Given the description of an element on the screen output the (x, y) to click on. 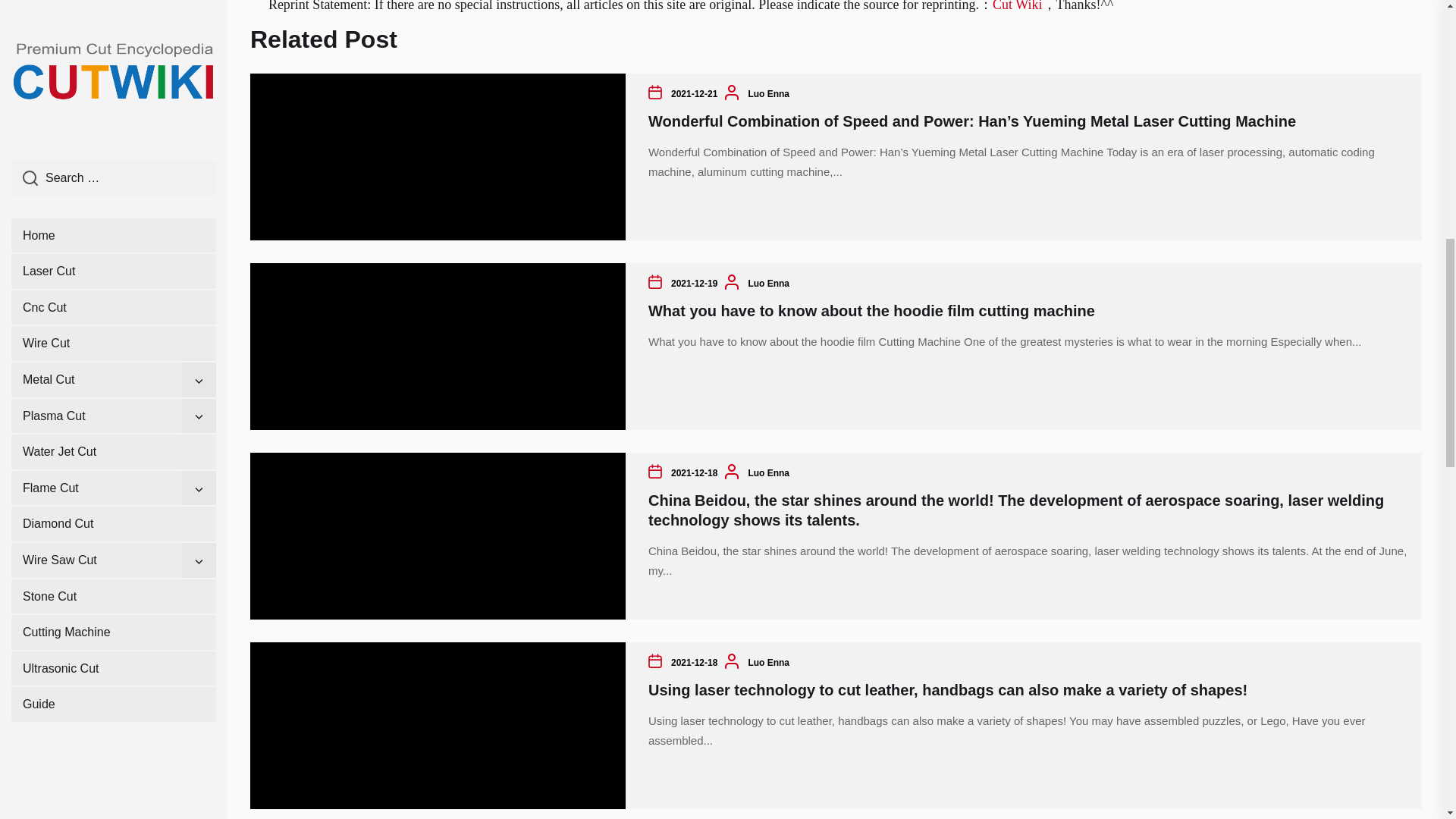
Cut Wiki (1017, 6)
